Given the description of an element on the screen output the (x, y) to click on. 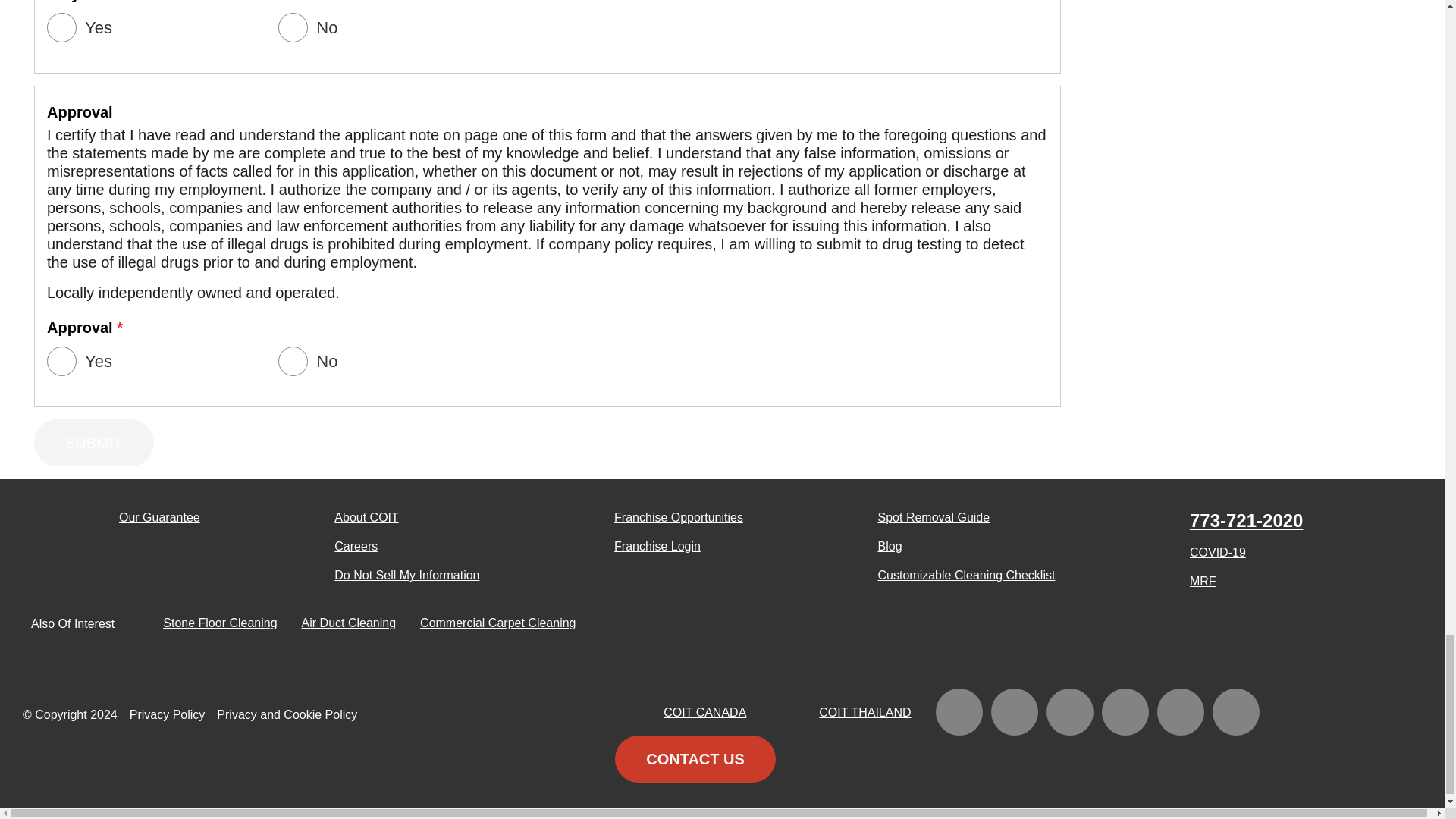
Submit (93, 442)
